Given the description of an element on the screen output the (x, y) to click on. 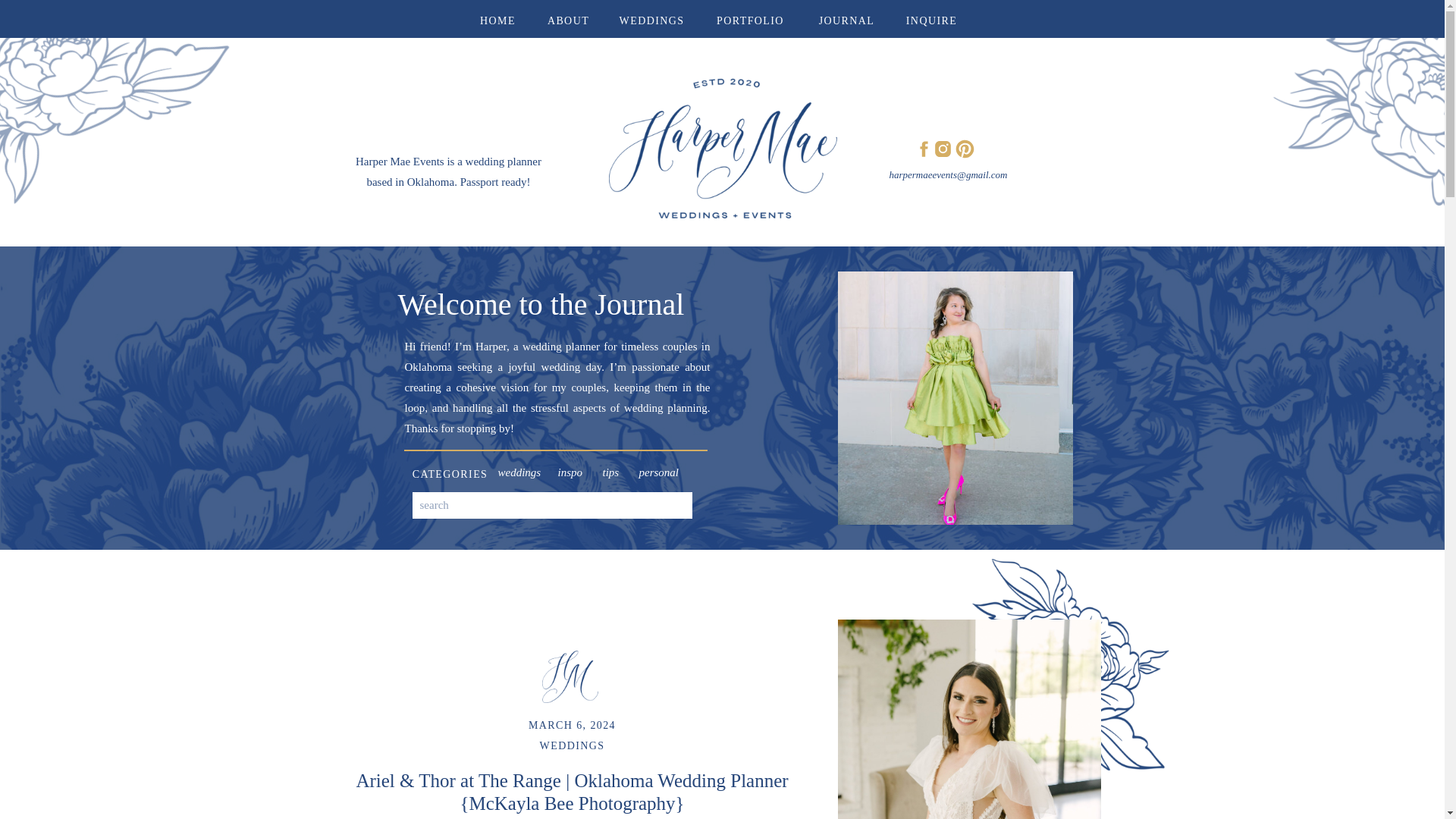
WEDDINGS (652, 18)
PORTFOLIO (751, 18)
tips (619, 469)
personal (664, 469)
WEDDINGS (572, 745)
HOME (496, 18)
JOURNAL (845, 18)
ABOUT (568, 18)
weddings (522, 469)
INQUIRE (931, 18)
